Given the description of an element on the screen output the (x, y) to click on. 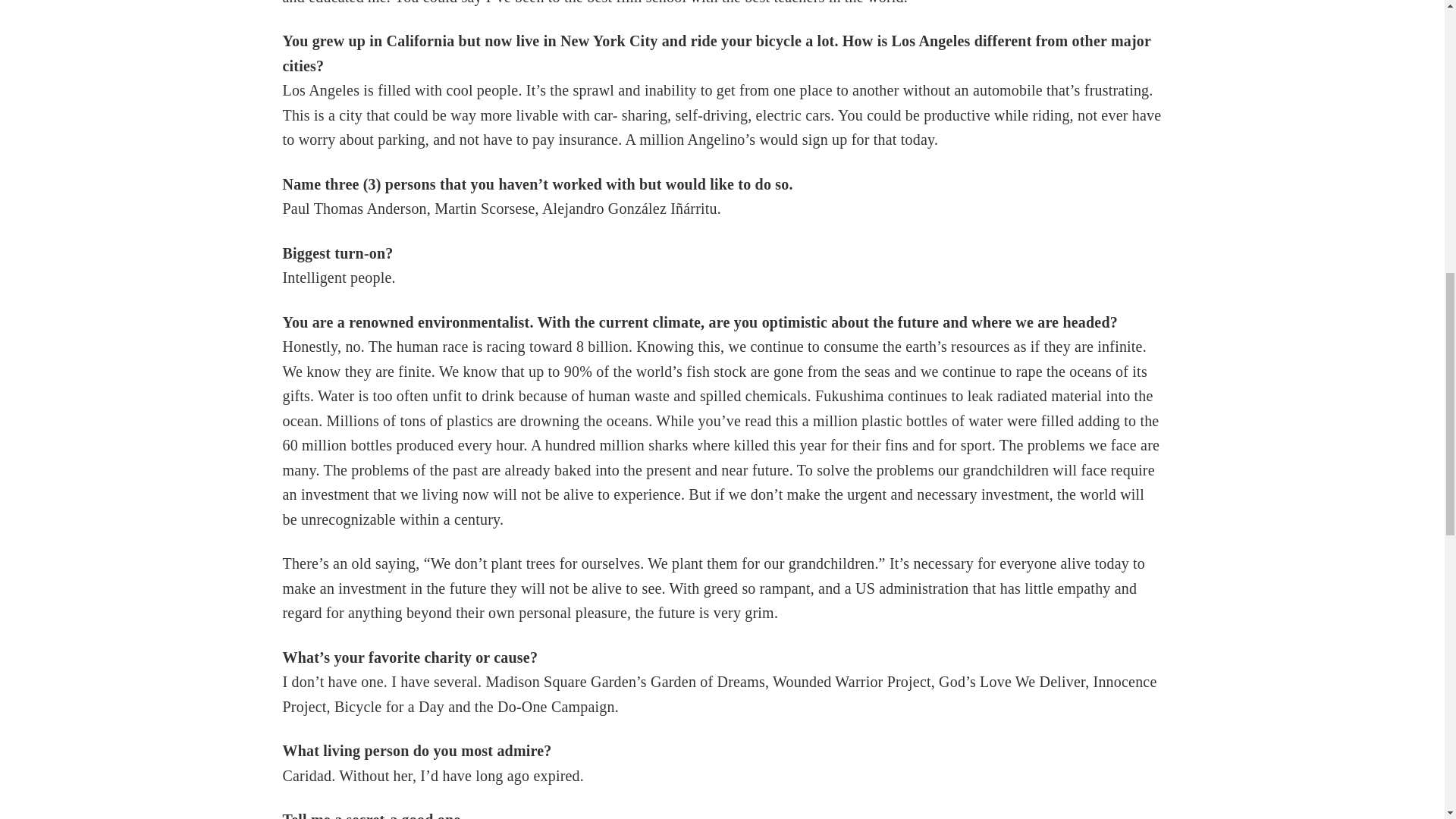
Page 1 (721, 762)
Page 1 (721, 265)
Page 1 (721, 588)
Page 1 (721, 90)
Page 1 (721, 196)
Page 1 (721, 682)
